Given the description of an element on the screen output the (x, y) to click on. 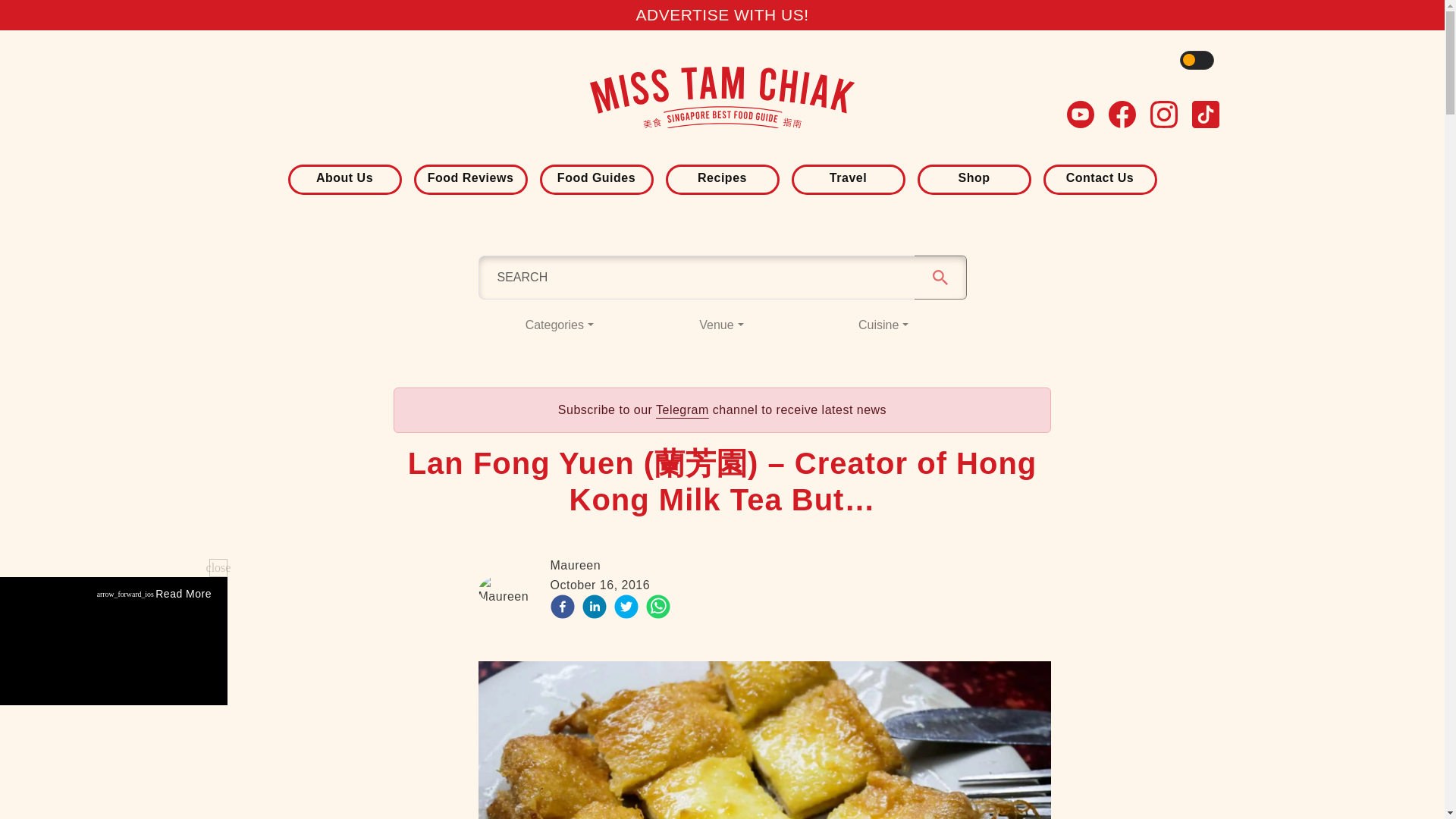
Telegram (682, 409)
About Us (343, 178)
Food Reviews (469, 178)
Categories (558, 325)
Contact Us (1099, 178)
ADVERTISE WITH US! (721, 14)
Shop (972, 178)
Venue (721, 325)
Travel (847, 178)
Recipes (721, 178)
Cuisine (883, 325)
Food Guides (595, 178)
